Given the description of an element on the screen output the (x, y) to click on. 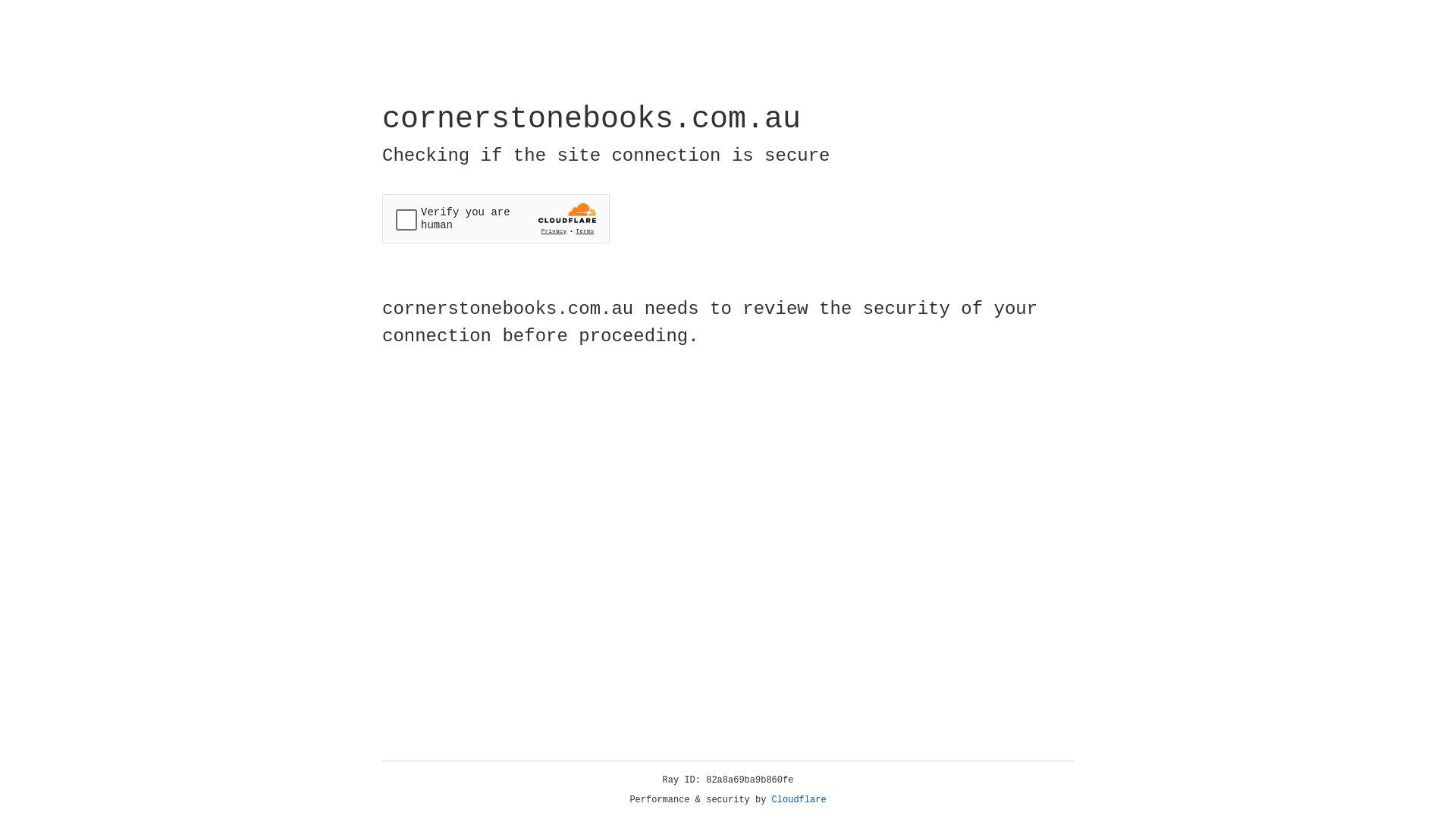
Widget containing a Cloudflare security challenge Element type: hover (495, 218)
Cloudflare Element type: text (798, 799)
